Given the description of an element on the screen output the (x, y) to click on. 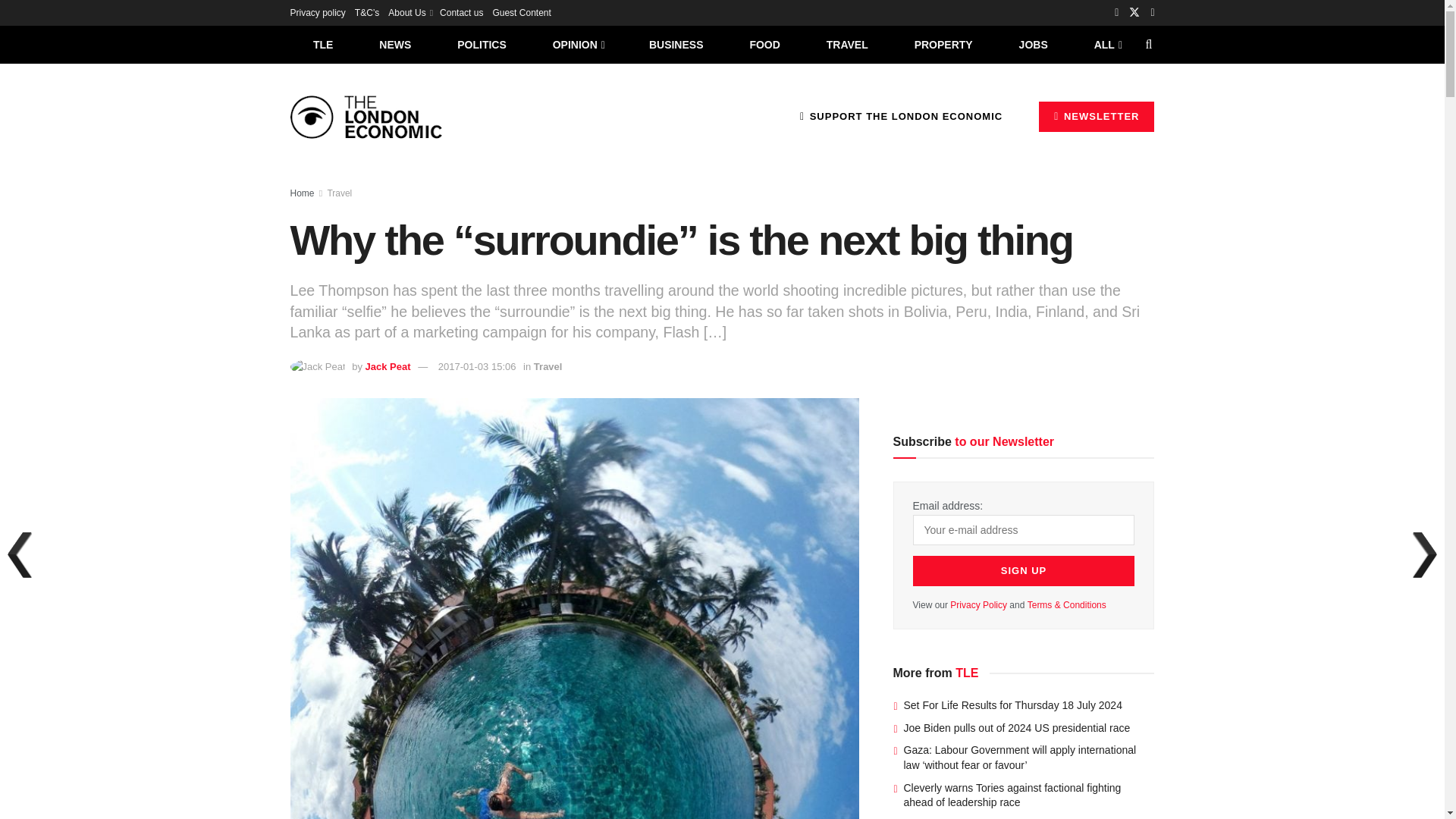
OPINION (577, 44)
POLITICS (481, 44)
PROPERTY (943, 44)
Privacy policy (317, 12)
Guest Content (521, 12)
NEWSLETTER (1096, 116)
NEWS (394, 44)
TRAVEL (847, 44)
Home (301, 193)
ALL (1106, 44)
SUPPORT THE LONDON ECONOMIC (900, 116)
Sign up (1023, 571)
JOBS (1032, 44)
TLE (322, 44)
About Us (409, 12)
